Given the description of an element on the screen output the (x, y) to click on. 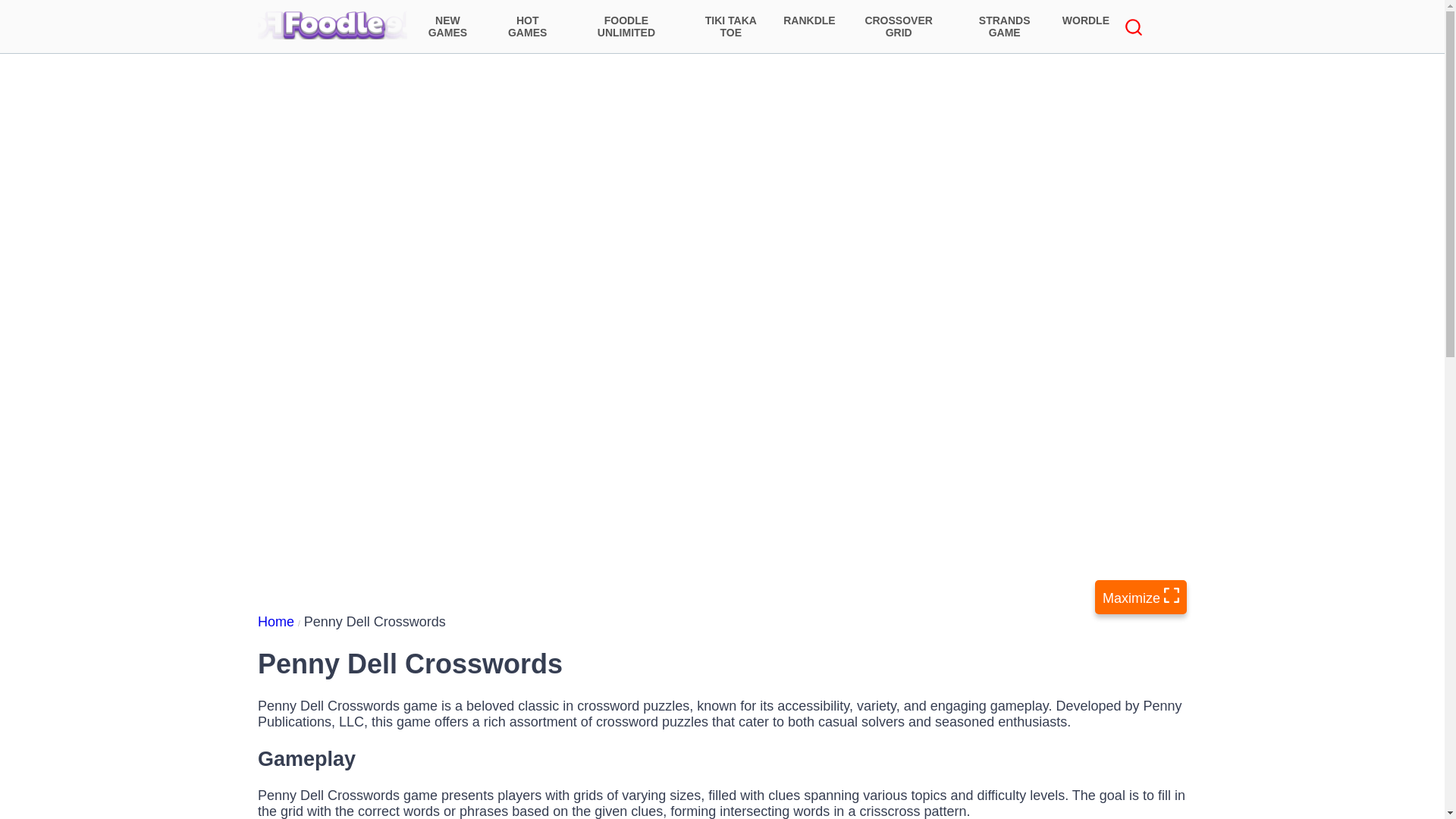
HOT GAMES (527, 26)
CROSSOVER GRID (899, 26)
Home (280, 621)
STRANDS GAME (1004, 26)
NEW GAMES (447, 26)
RANKDLE (809, 26)
Foodle (332, 24)
WORDLE (1085, 26)
TIKI TAKA TOE (730, 26)
Play in fullscreen (1140, 596)
